Given the description of an element on the screen output the (x, y) to click on. 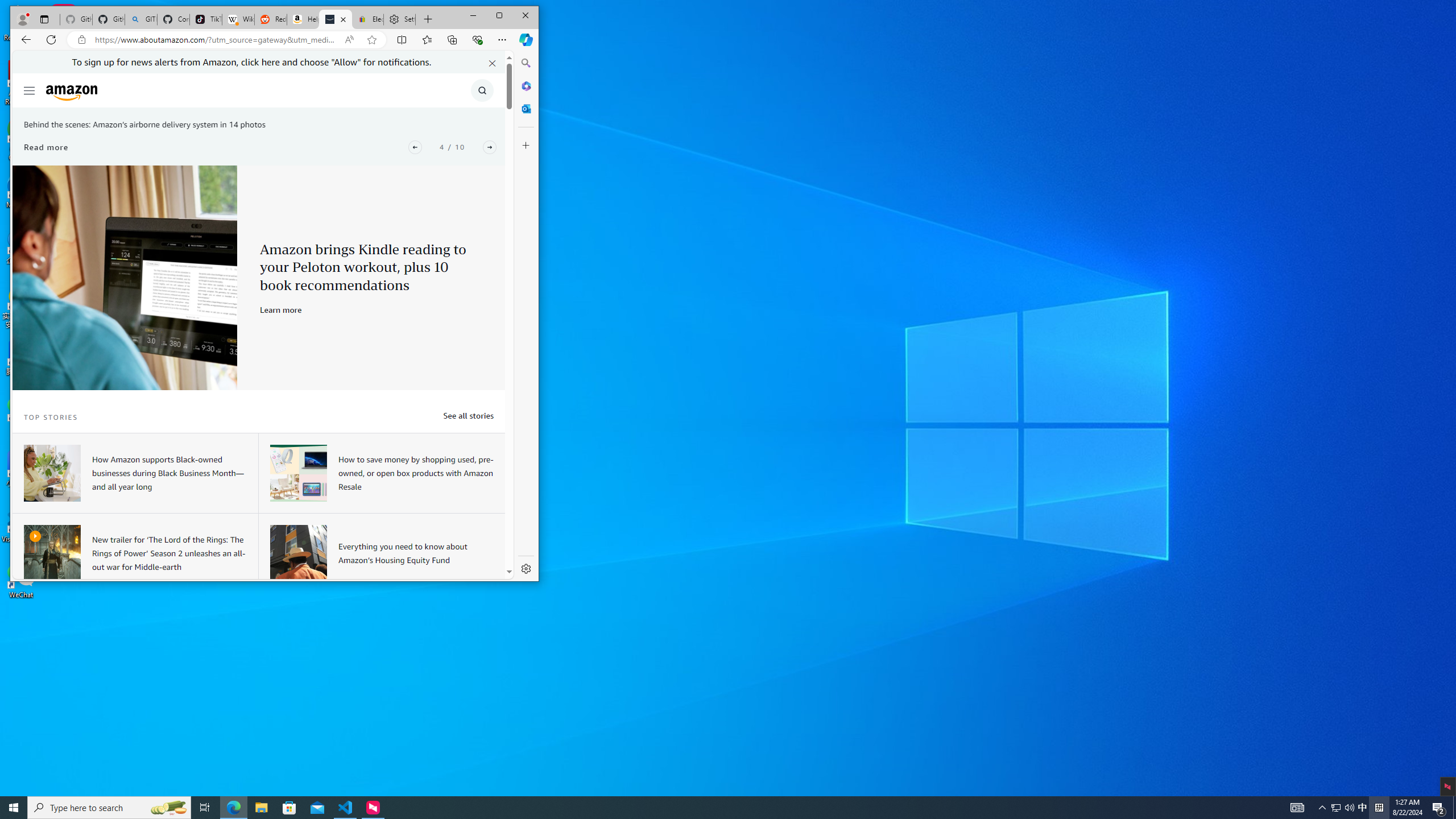
A woman sitting at a desk working on a laptop device. (51, 472)
Settings and more (Alt+F) (501, 39)
AutomationID: 4105 (1297, 807)
Customize (525, 145)
Microsoft Store (289, 807)
Address and search bar (216, 39)
Previous (414, 146)
Next (489, 146)
Task View (204, 807)
Notification Chevron (1322, 807)
Start (13, 807)
Reddit - Dive into anything (269, 19)
